Given the description of an element on the screen output the (x, y) to click on. 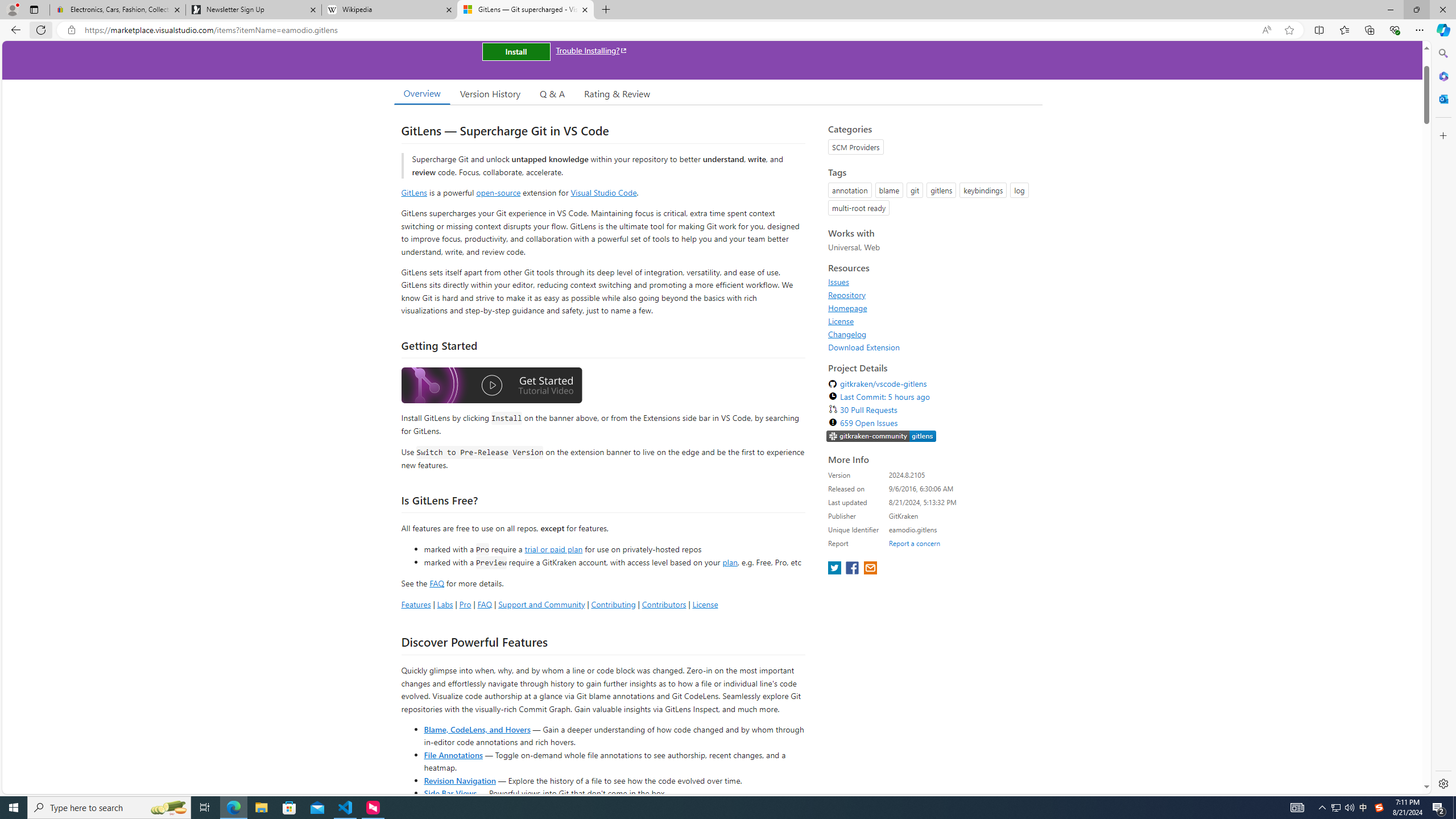
Download Extension (931, 346)
Blame, CodeLens, and Hovers (476, 728)
Newsletter Sign Up (253, 9)
License (931, 320)
Homepage (931, 307)
Changelog (847, 333)
Homepage (847, 307)
